Given the description of an element on the screen output the (x, y) to click on. 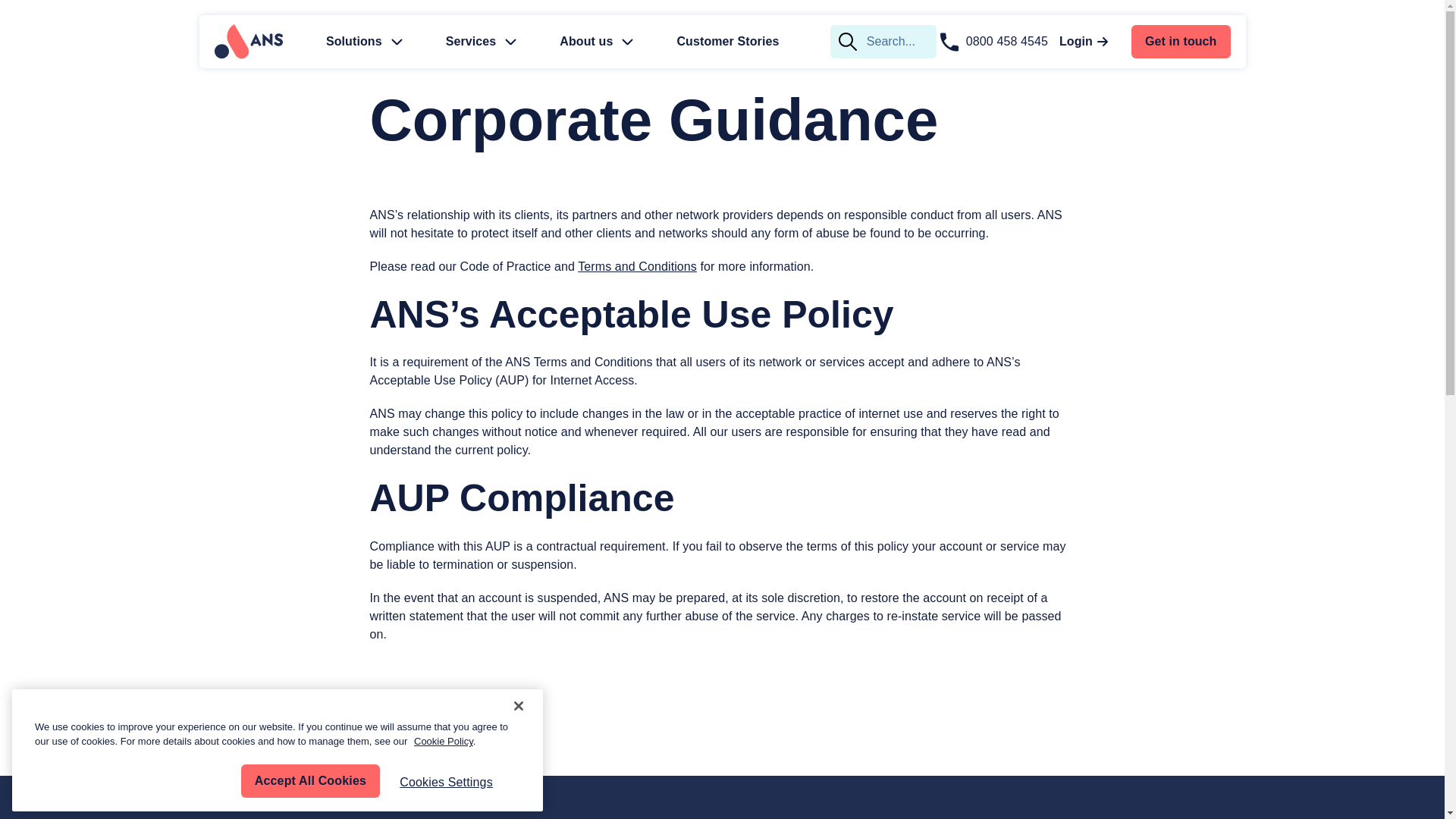
Solutions (362, 41)
Cookies Settings (47, 783)
